Given the description of an element on the screen output the (x, y) to click on. 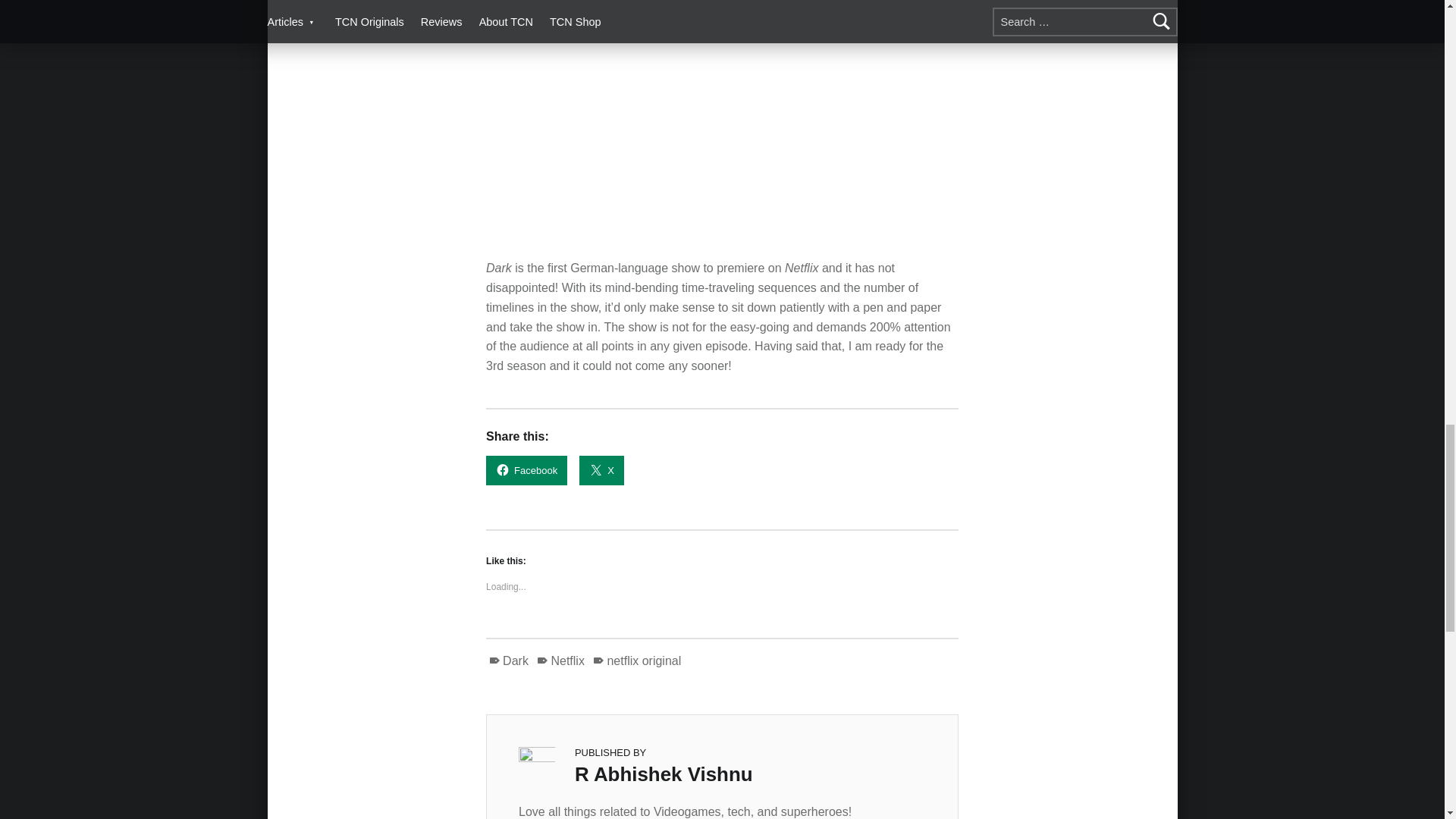
Facebook (526, 470)
X (601, 470)
Dark (507, 660)
Click to share on Facebook (526, 470)
Click to share on X (601, 470)
netflix original (636, 660)
Netflix (559, 660)
